Given the description of an element on the screen output the (x, y) to click on. 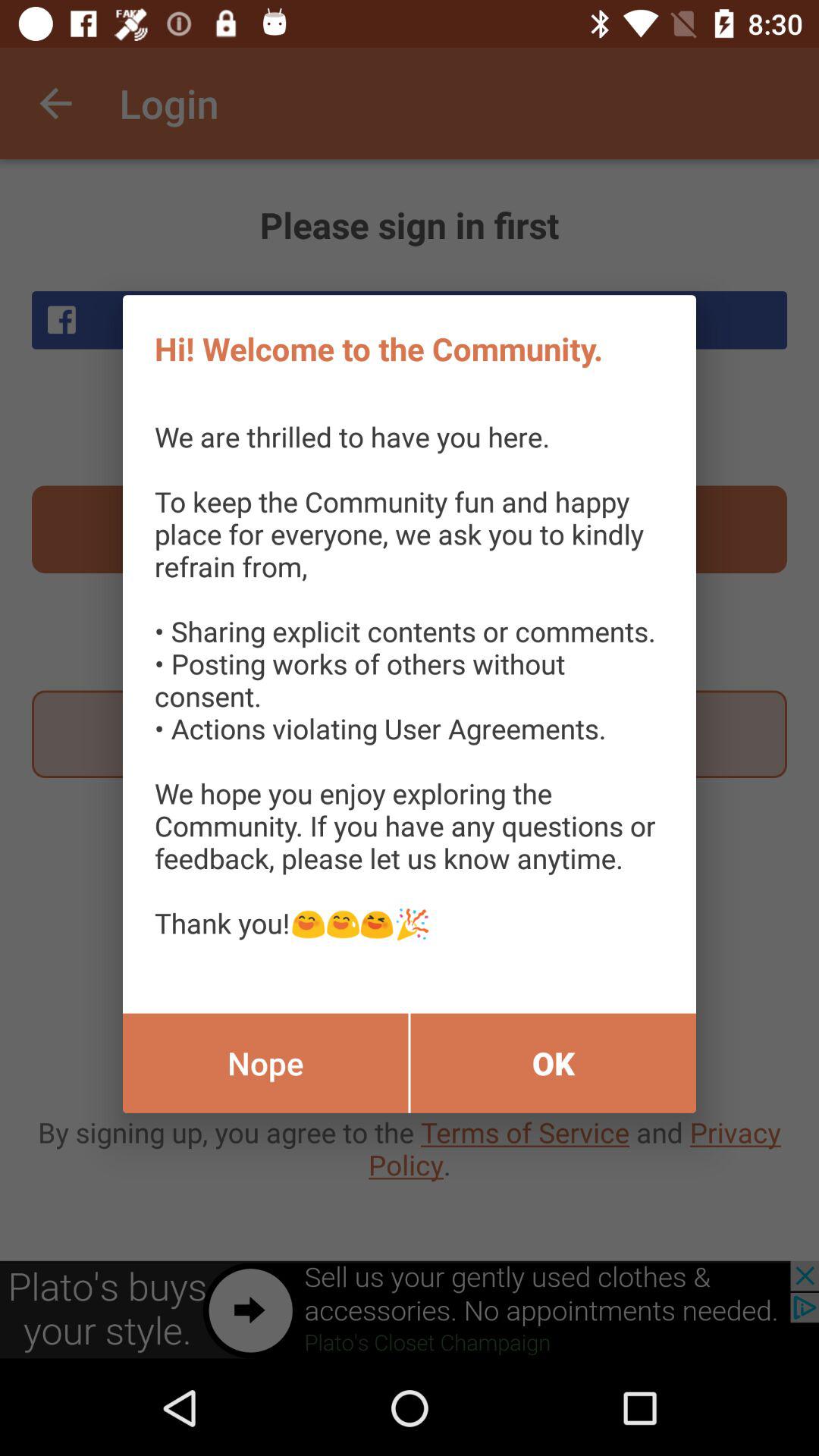
tap icon at the bottom left corner (265, 1063)
